Given the description of an element on the screen output the (x, y) to click on. 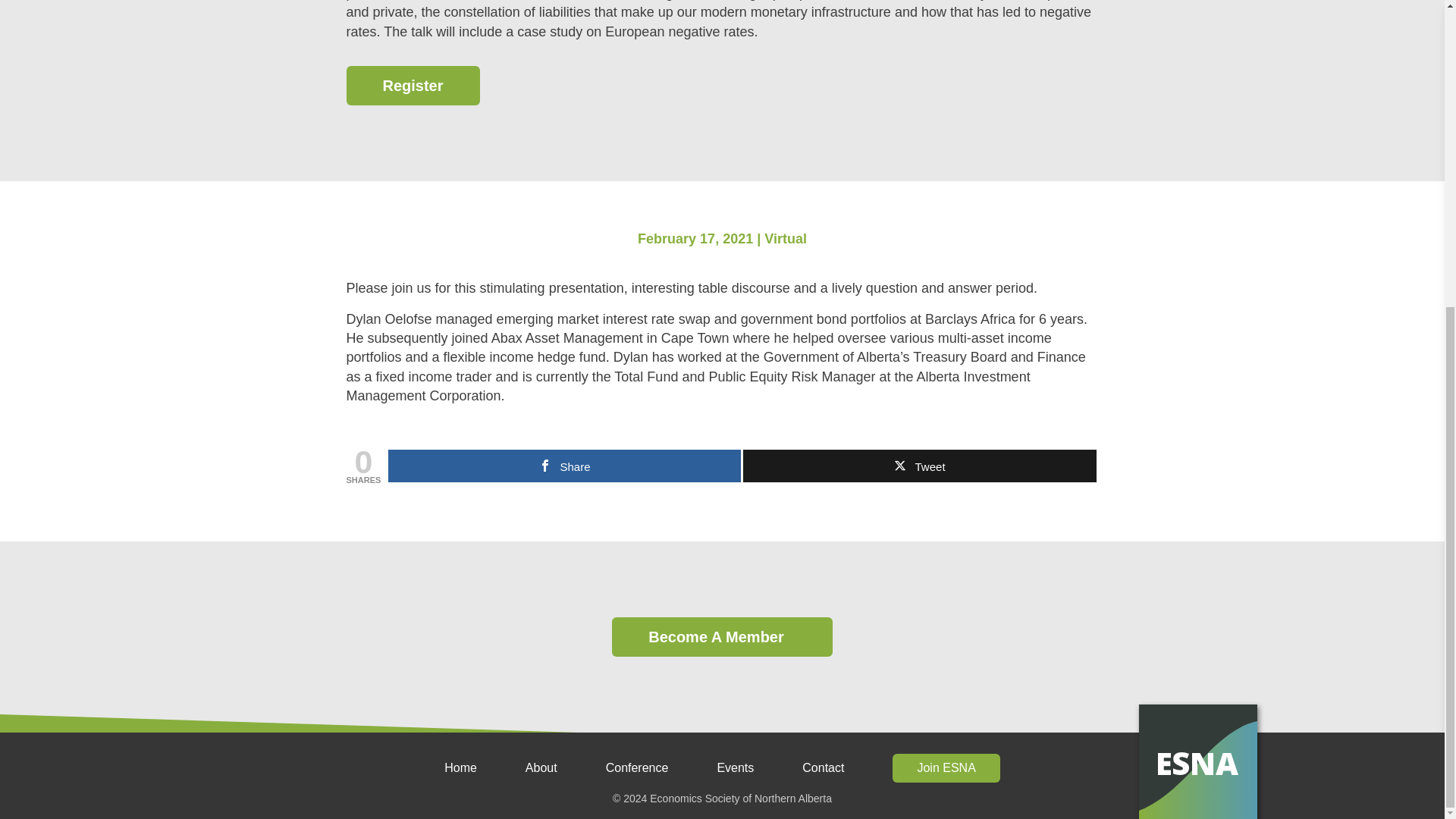
Share (564, 465)
Contact (823, 767)
Events (735, 767)
Tweet (919, 465)
Conference (636, 767)
Become A Member (721, 636)
Home (460, 767)
Join ESNA (946, 767)
About (541, 767)
Register (412, 85)
